Given the description of an element on the screen output the (x, y) to click on. 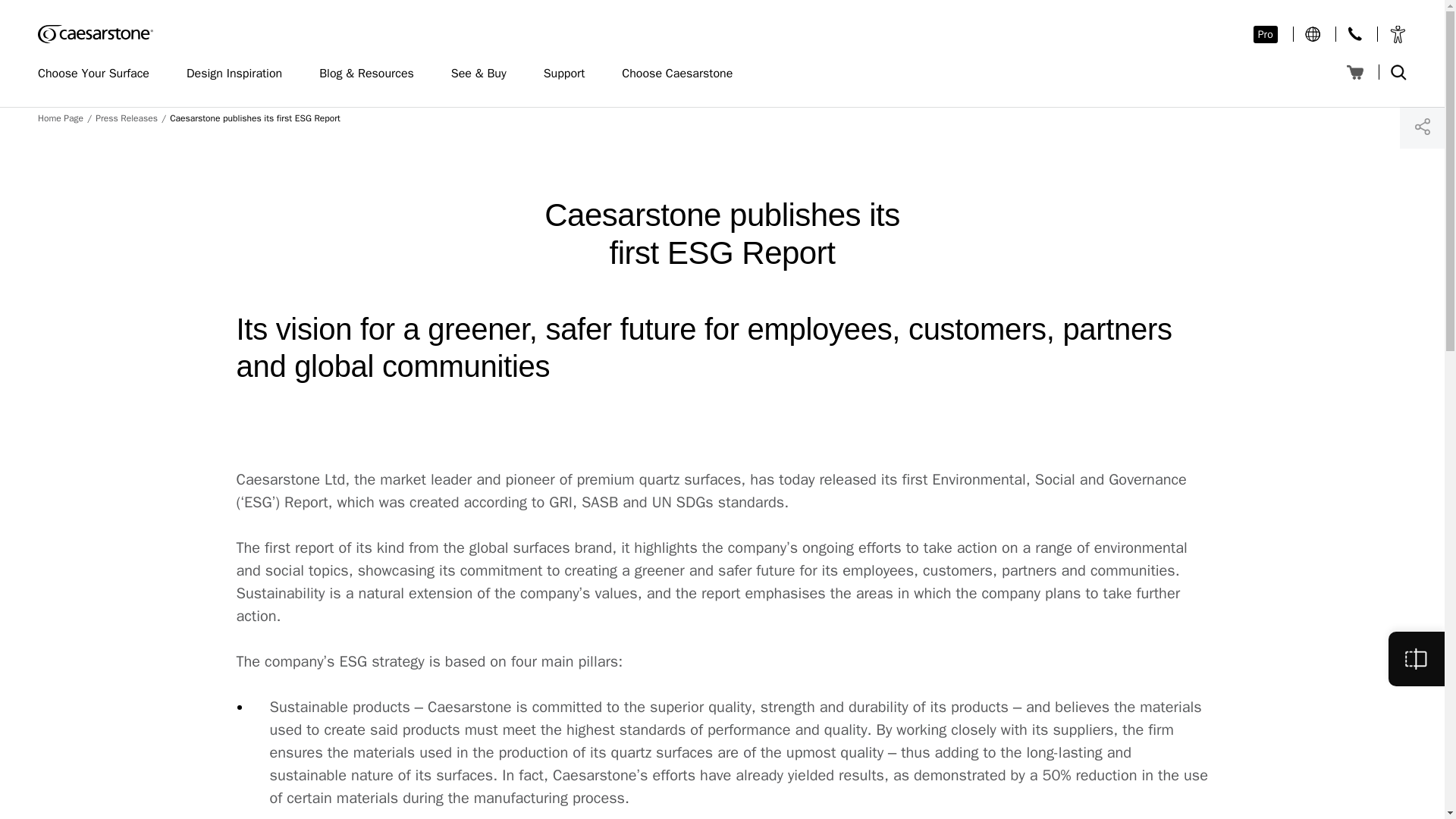
Choose Your Surface (100, 73)
Support (571, 73)
Choose Caesarstone (683, 73)
Homepage (94, 33)
: (1312, 33)
Design Inspiration (241, 73)
Design Inspiration (241, 73)
Choose Caesarstone (683, 73)
Pro (1265, 34)
